Given the description of an element on the screen output the (x, y) to click on. 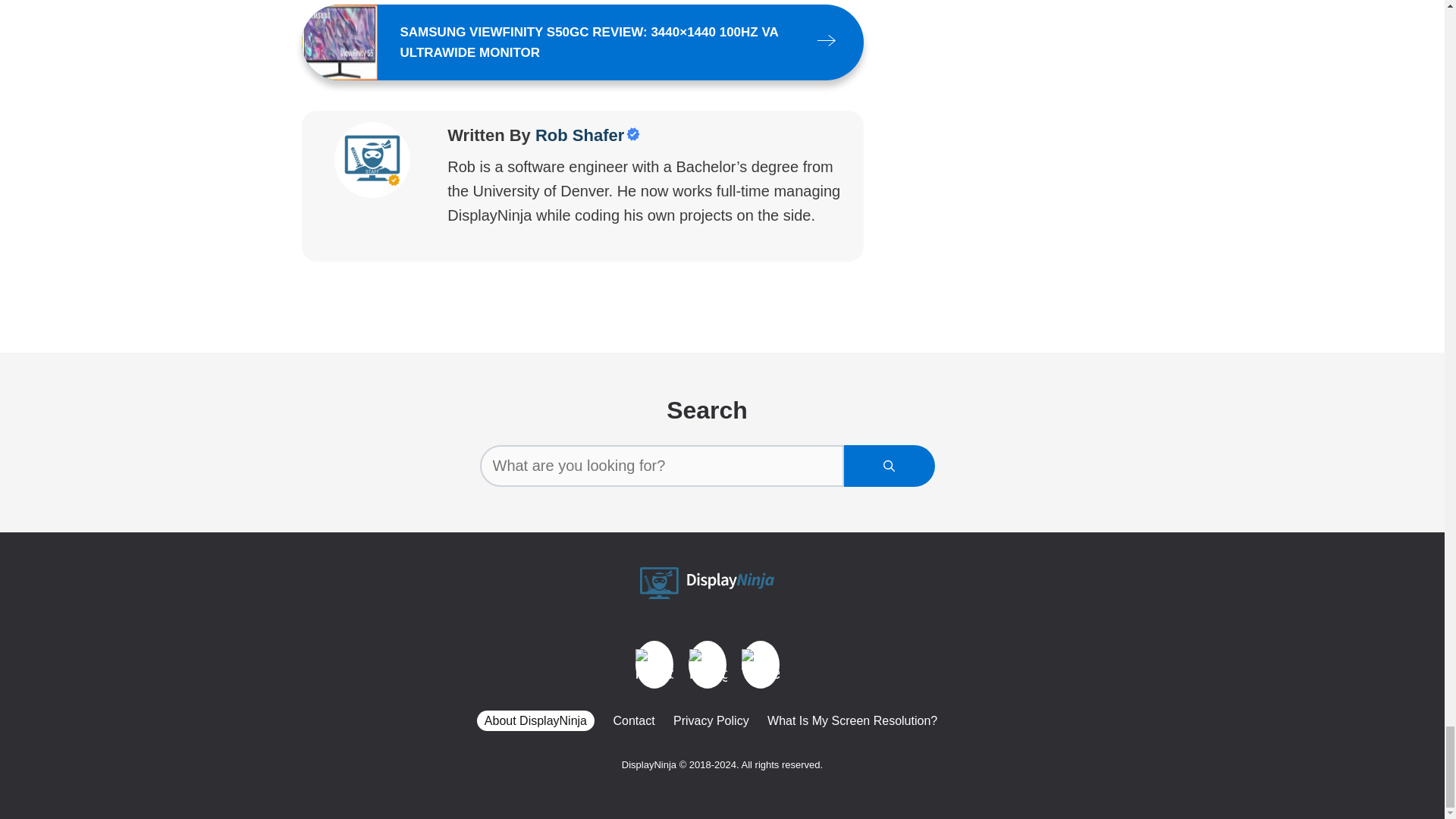
Search for: (661, 465)
